Given the description of an element on the screen output the (x, y) to click on. 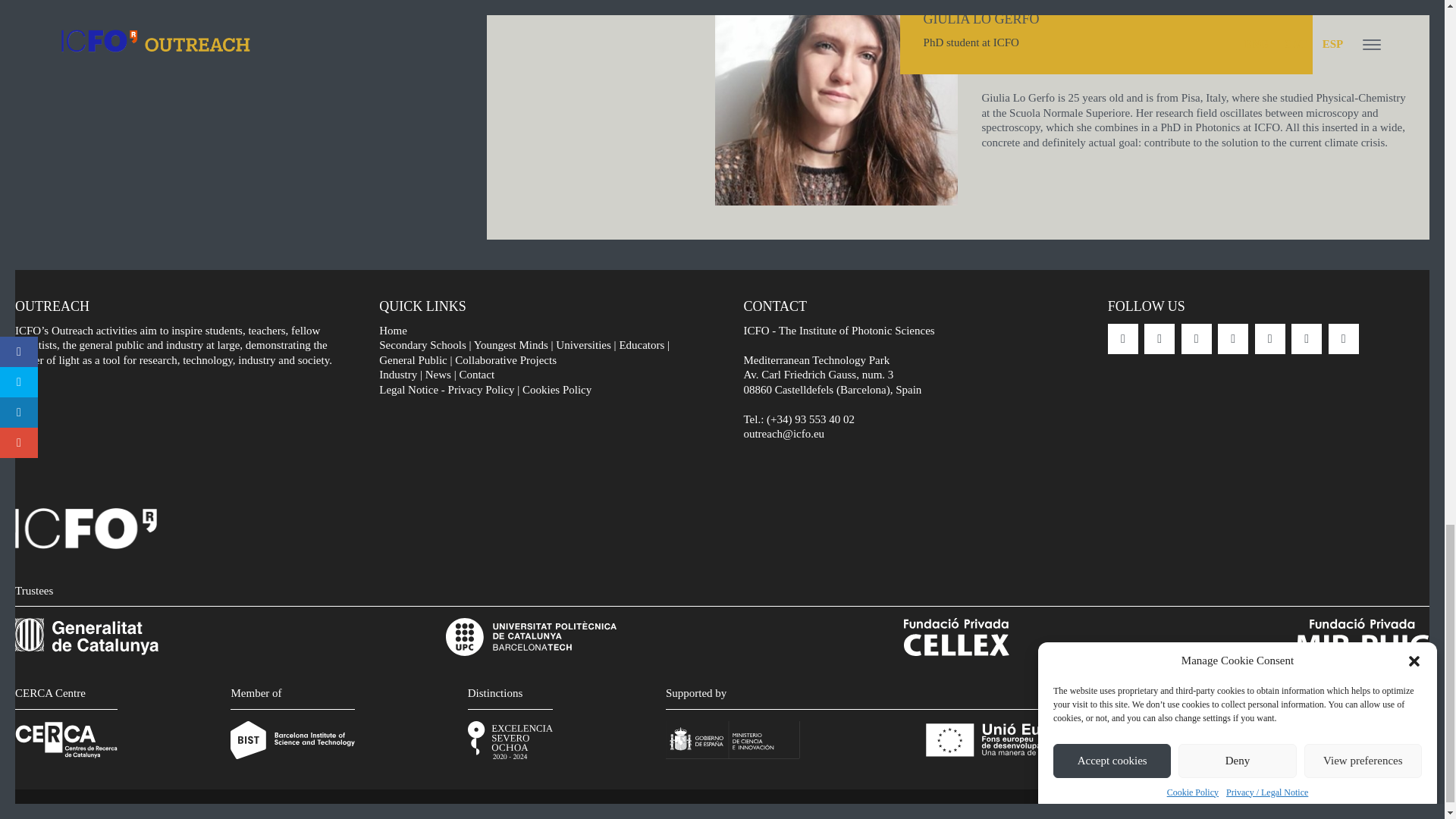
News (438, 374)
Link to ICFO webpage (85, 544)
Universities (583, 345)
Educators (640, 345)
Youngest Minds (511, 345)
Giulia (836, 102)
General Public (412, 359)
Industry (397, 374)
Secondary Schools (421, 345)
Collaborative Projects (505, 359)
Home (392, 330)
